Given the description of an element on the screen output the (x, y) to click on. 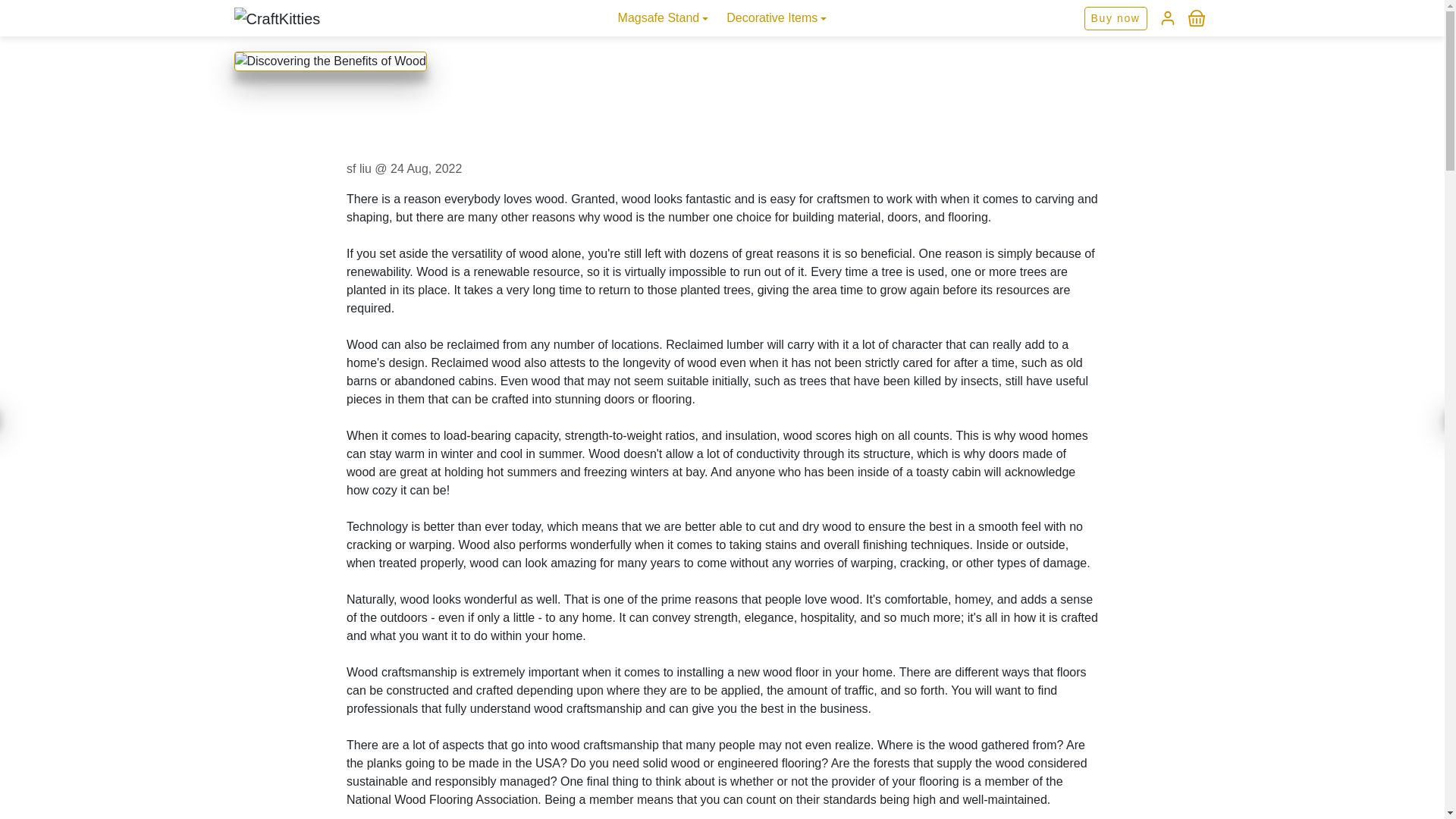
Decorative Items (776, 17)
Magsafe Stand (662, 17)
